Given the description of an element on the screen output the (x, y) to click on. 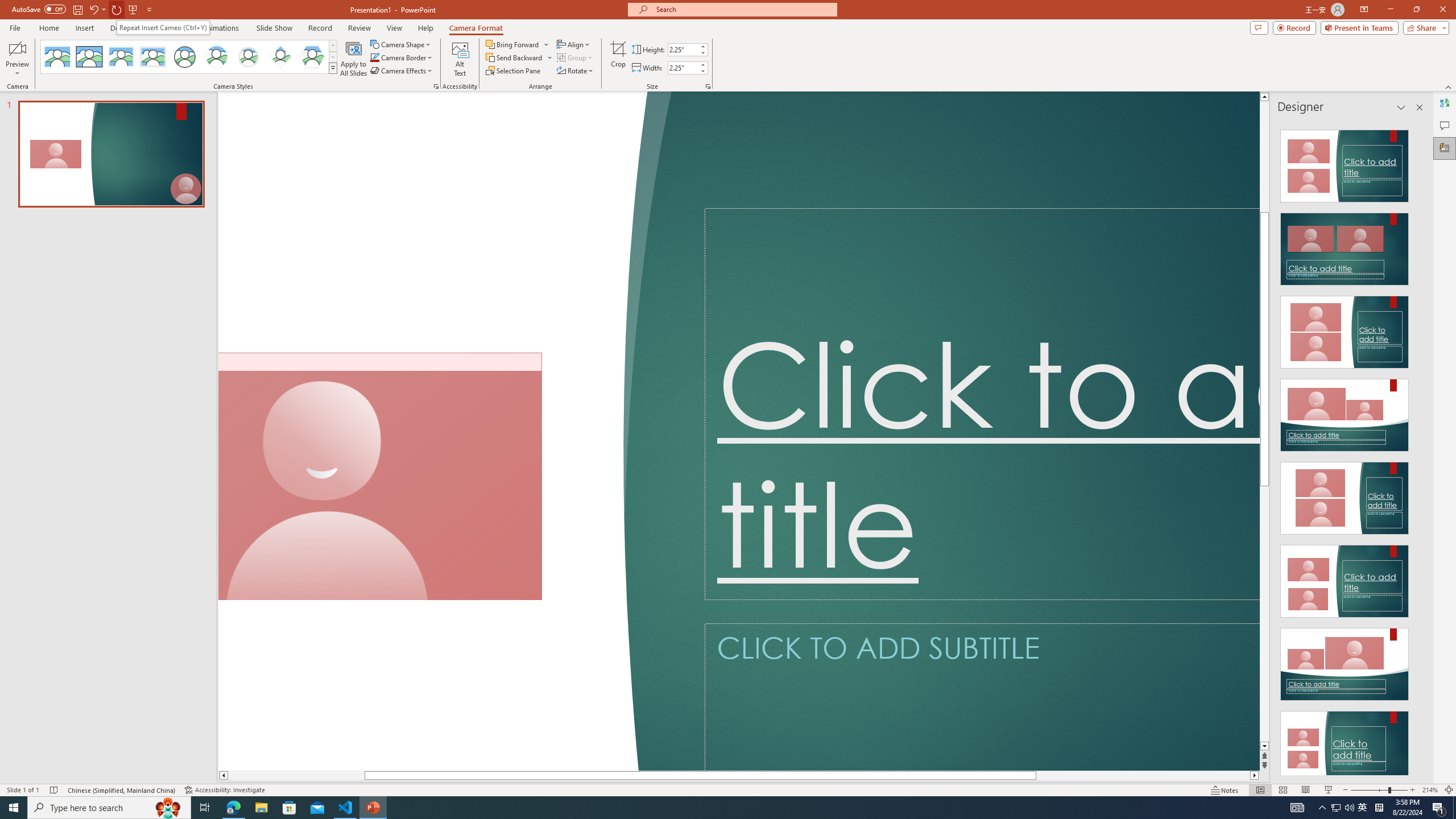
Microsoft search (742, 9)
Center Shadow Hexagon (312, 56)
Zoom 214% (1430, 790)
Center Shadow Rectangle (120, 56)
Camera 7, No camera detected. (380, 476)
Size and Position... (707, 85)
More Options (550, 56)
Home (48, 28)
Review (359, 28)
Class: NetUIScrollBar (1418, 447)
Line down (1264, 746)
File Tab (15, 27)
Subtitle TextBox (981, 696)
Design Idea (1344, 743)
